Given the description of an element on the screen output the (x, y) to click on. 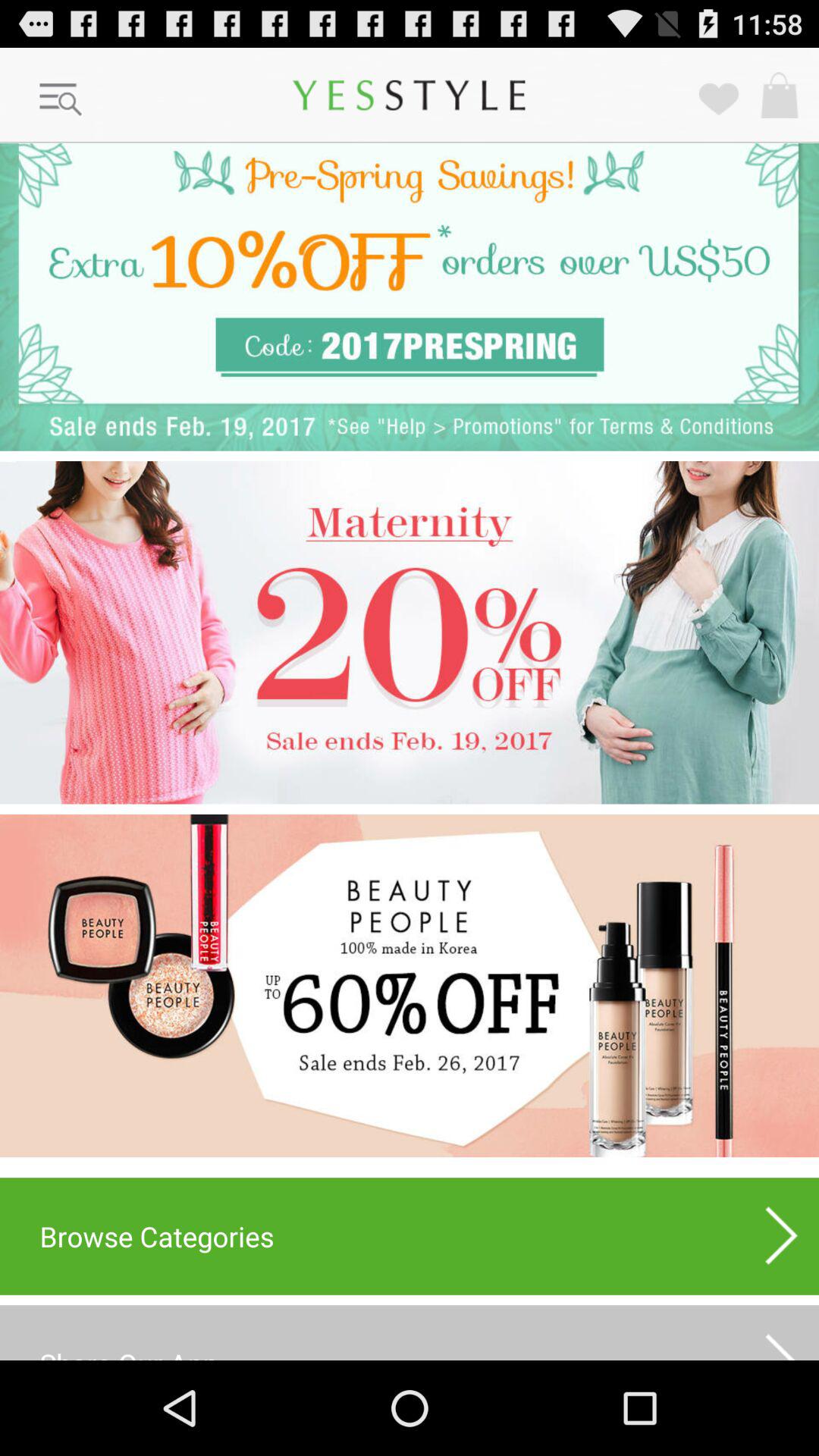
press app below the browse categories app (409, 1332)
